Given the description of an element on the screen output the (x, y) to click on. 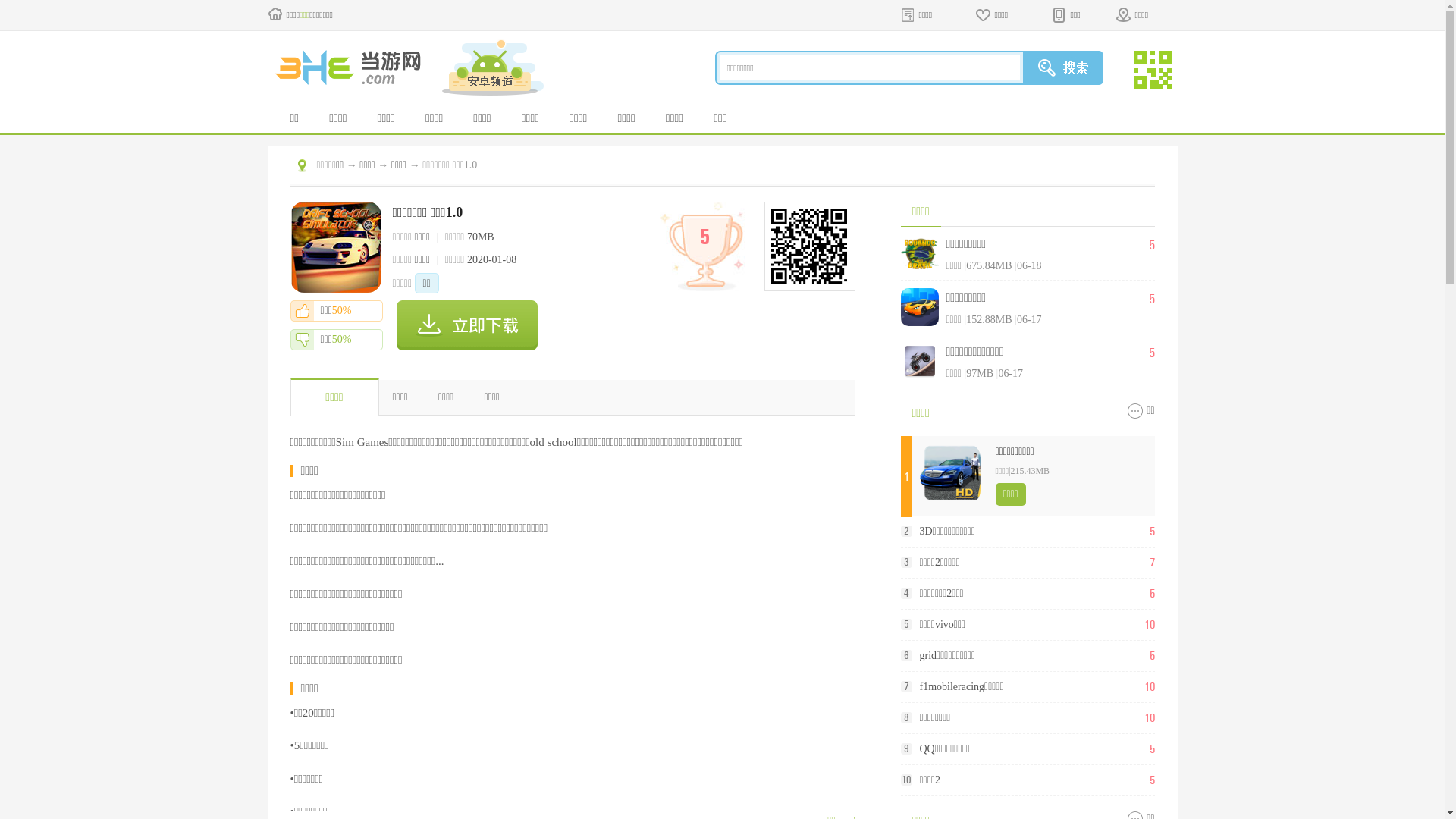
http://m.3h3.com/az/163169.html Element type: hover (808, 246)
